Given the description of an element on the screen output the (x, y) to click on. 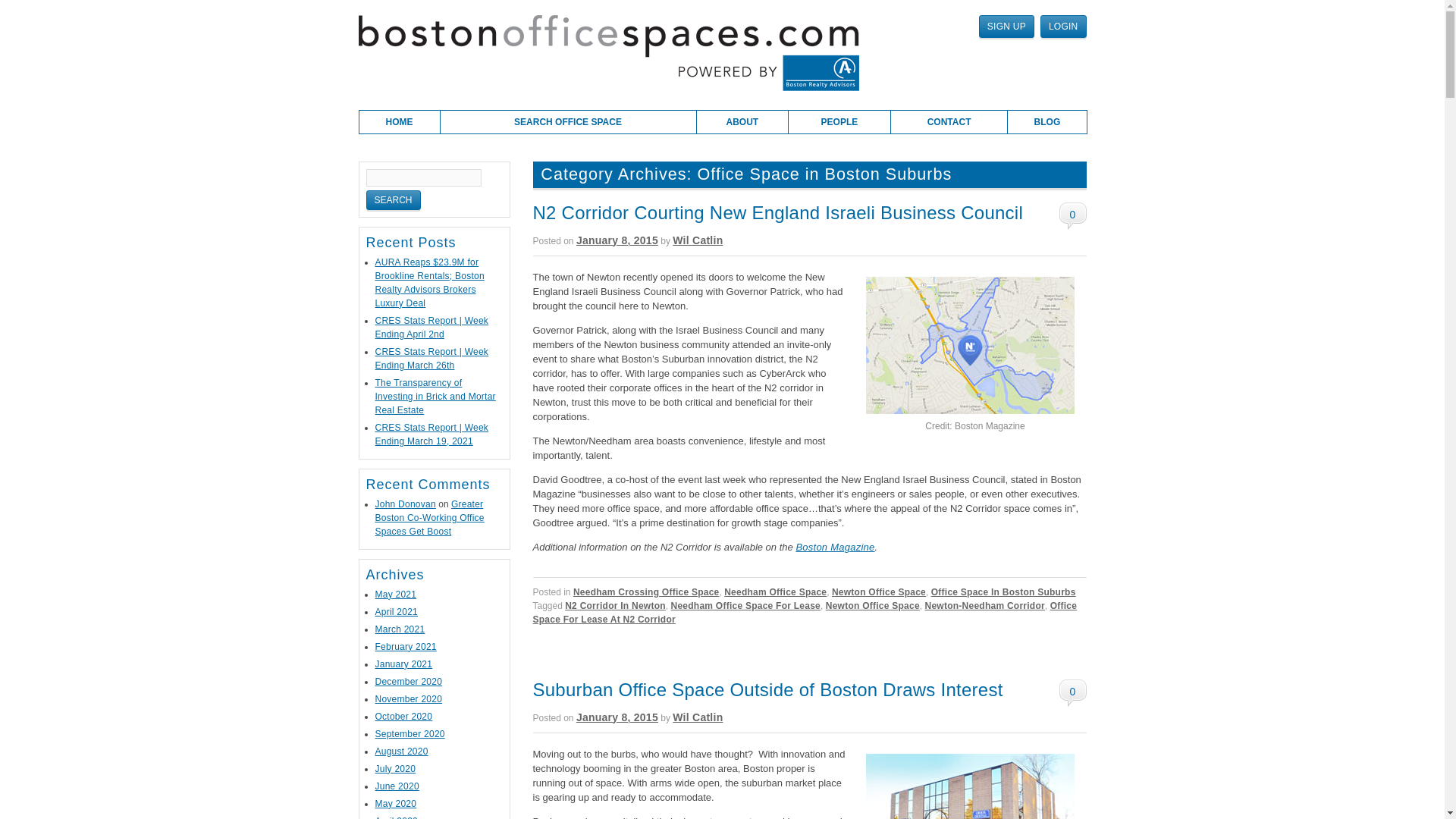
Suburban Office Space Outside of Boston Draws Interest (767, 689)
January 8, 2015 (617, 717)
N2 Corridor Courting New England Israeli Business Council (777, 212)
Office Space In Boston Suburbs (1003, 592)
CONTACT (949, 121)
5:10 pm (617, 717)
SIGN UP (1005, 26)
Boston Magazine (834, 546)
Needham Crossing Office Space (646, 592)
Skip to content (389, 116)
Newton-Needham Corridor (984, 605)
N2 Corridor In Newton (614, 605)
Office Space For Lease At N2 Corridor (804, 612)
Newton Office Space (878, 592)
View all posts by Wil Catlin (697, 240)
